Given the description of an element on the screen output the (x, y) to click on. 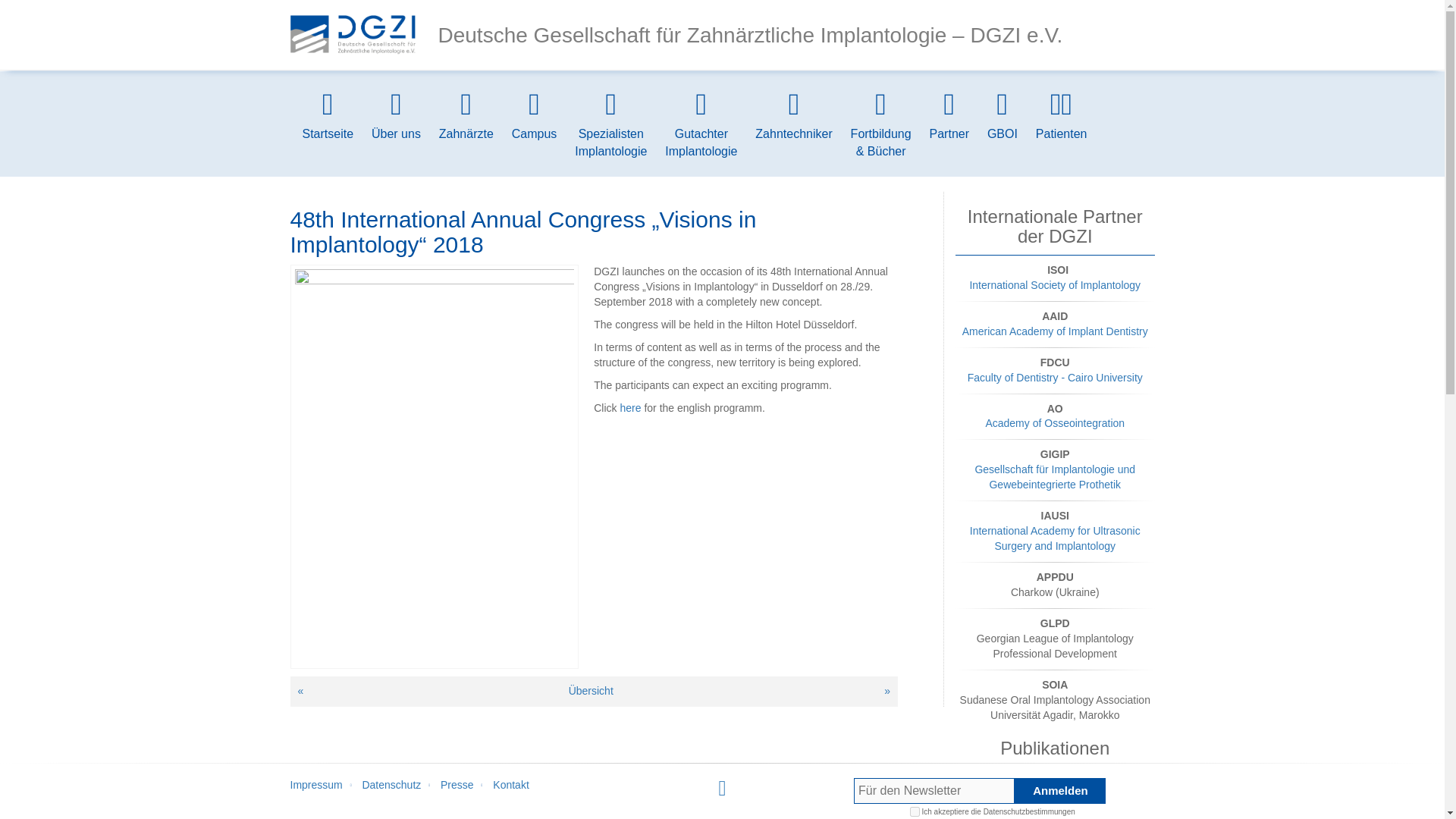
on (915, 811)
Implantologie Journal (1054, 812)
